Given the description of an element on the screen output the (x, y) to click on. 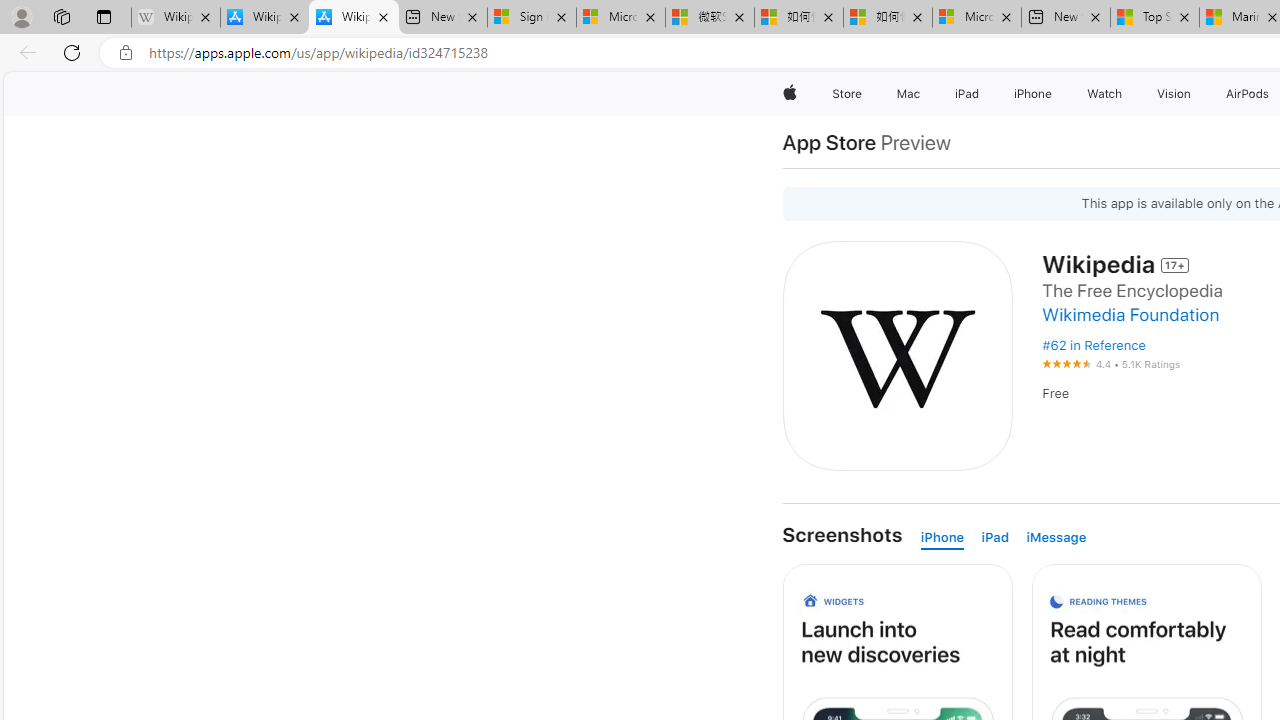
Free (1055, 394)
Wikimedia Foundation (1130, 313)
iMessage (1056, 538)
iPhone menu (1055, 93)
Microsoft account | Account Checkup (977, 17)
Store (846, 93)
Apple (789, 93)
Store menu (864, 93)
iPhone (942, 538)
